Given the description of an element on the screen output the (x, y) to click on. 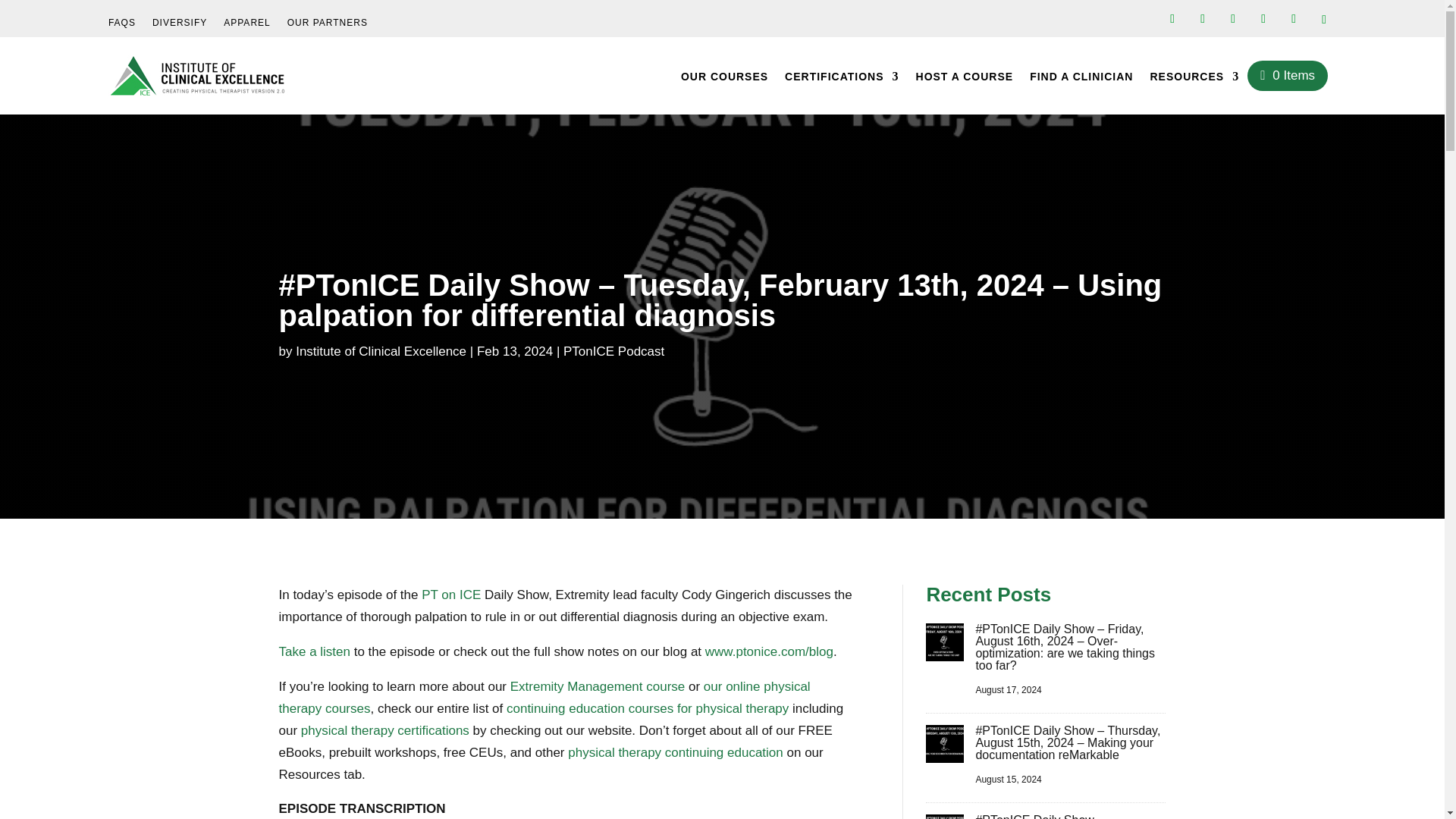
Follow on Spotify (1293, 18)
0 Items (1287, 75)
Follow on iTunes (1262, 18)
Follow on tumblr (1323, 19)
RESOURCES (1194, 83)
FAQS (121, 25)
HOST A COURSE (964, 83)
Follow on X (1232, 18)
CERTIFICATIONS (841, 83)
Posts by Institute of Clinical Excellence (380, 350)
